Given the description of an element on the screen output the (x, y) to click on. 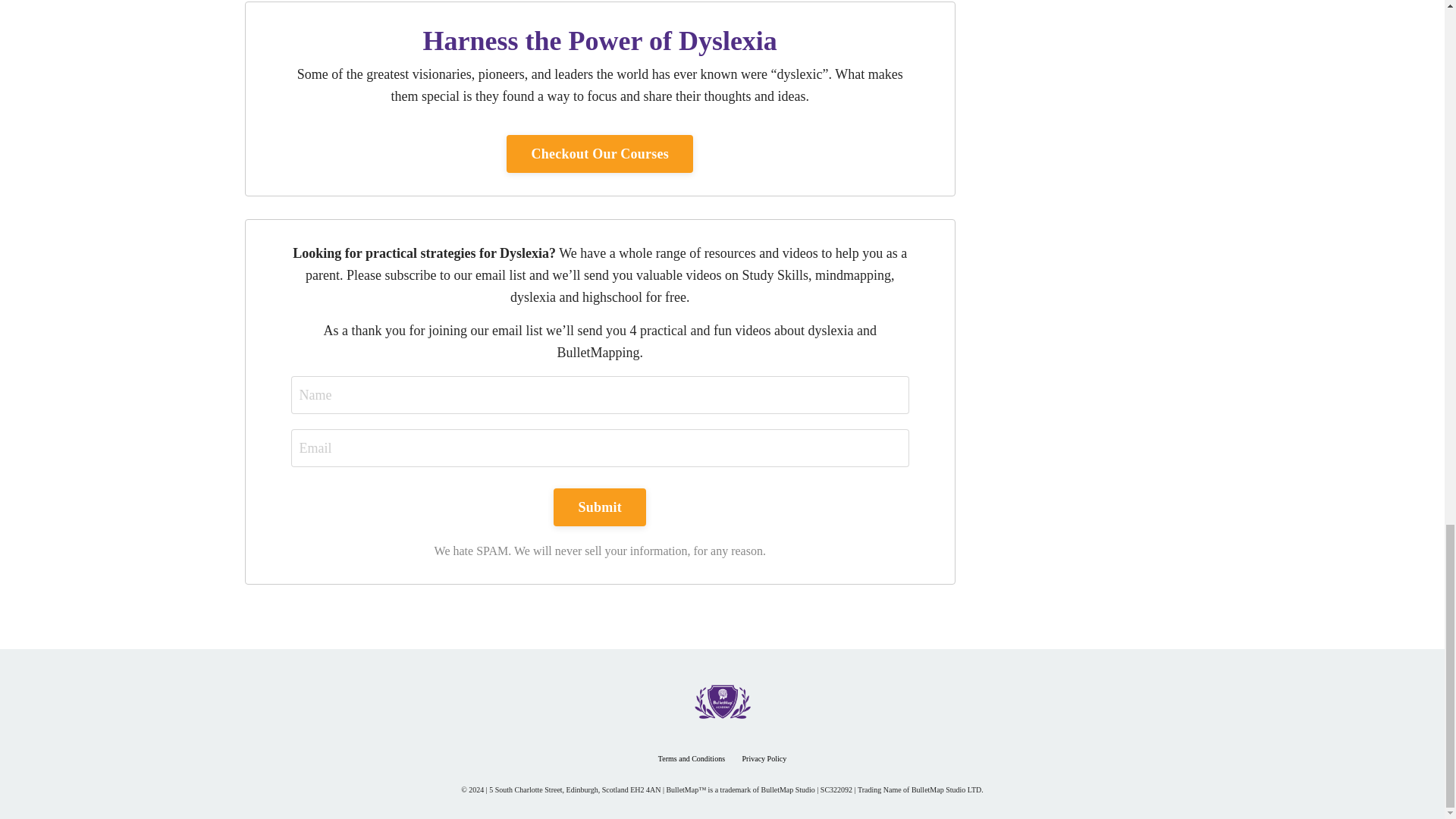
Checkout Our Courses (599, 153)
Submit (599, 507)
